Given the description of an element on the screen output the (x, y) to click on. 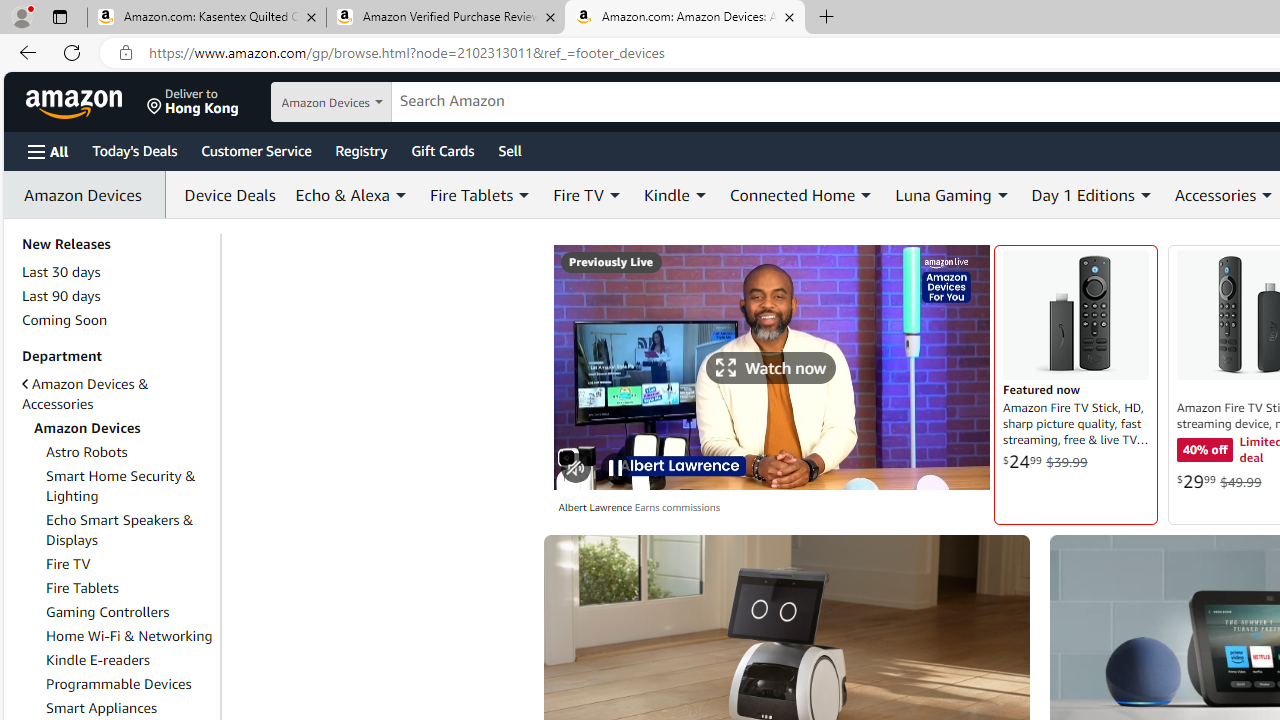
Connected Home (802, 194)
Amazon Devices & Accessories (117, 393)
Watch now (770, 367)
Expand Fire Tablets (523, 195)
Gift Cards (442, 150)
Programmable Devices (119, 683)
Amazon (76, 101)
Amazon Devices (117, 427)
Smart Home Security & Lighting (120, 485)
Smart Appliances (101, 708)
Astro Robots (129, 452)
Echo & Alexa (352, 194)
Astro Robots (87, 451)
